Given the description of an element on the screen output the (x, y) to click on. 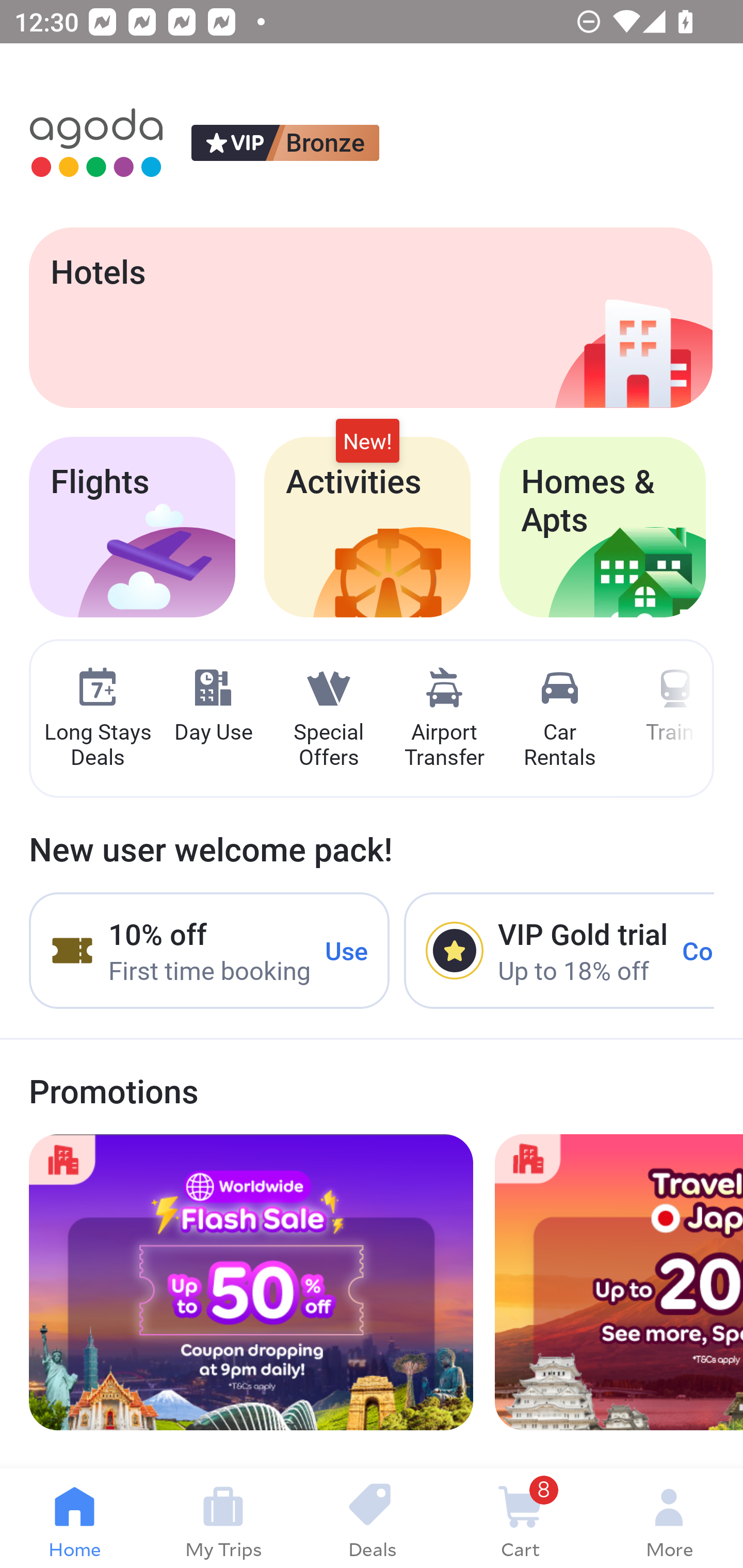
Hotels (370, 317)
New! (367, 441)
Flights (131, 527)
Activities (367, 527)
Homes & Apts (602, 527)
Day Use (213, 706)
Long Stays Deals (97, 718)
Special Offers (328, 718)
Airport Transfer (444, 718)
Car Rentals (559, 718)
Use (346, 950)
Home (74, 1518)
My Trips (222, 1518)
Deals (371, 1518)
8 Cart (519, 1518)
More (668, 1518)
